Given the description of an element on the screen output the (x, y) to click on. 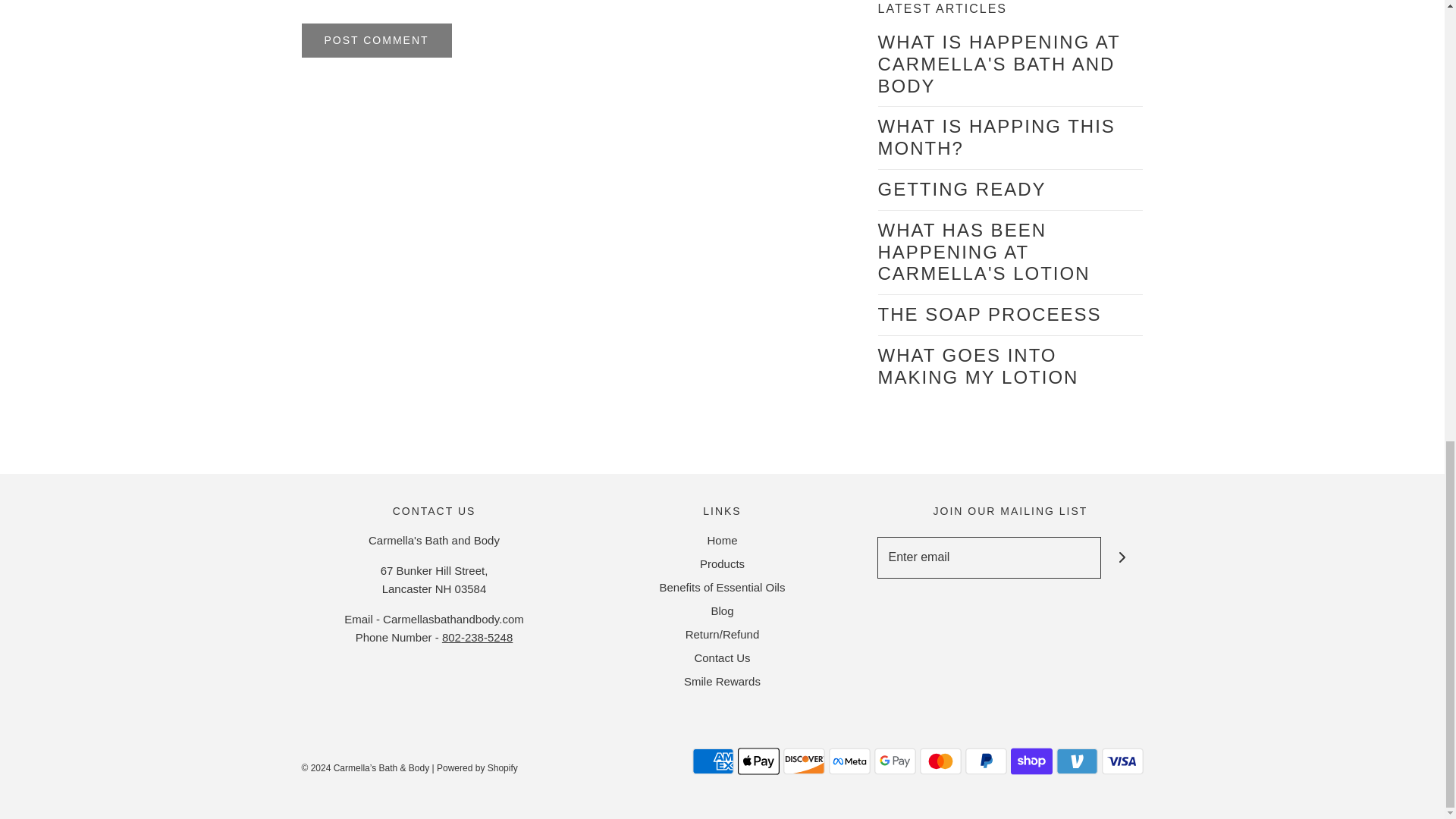
Discover (803, 761)
Visa (1121, 761)
Venmo (1076, 761)
Post comment (376, 40)
PayPal (984, 761)
Shop Pay (1030, 761)
Google Pay (894, 761)
Meta Pay (848, 761)
Apple Pay (757, 761)
Mastercard (939, 761)
American Express (712, 761)
